Given the description of an element on the screen output the (x, y) to click on. 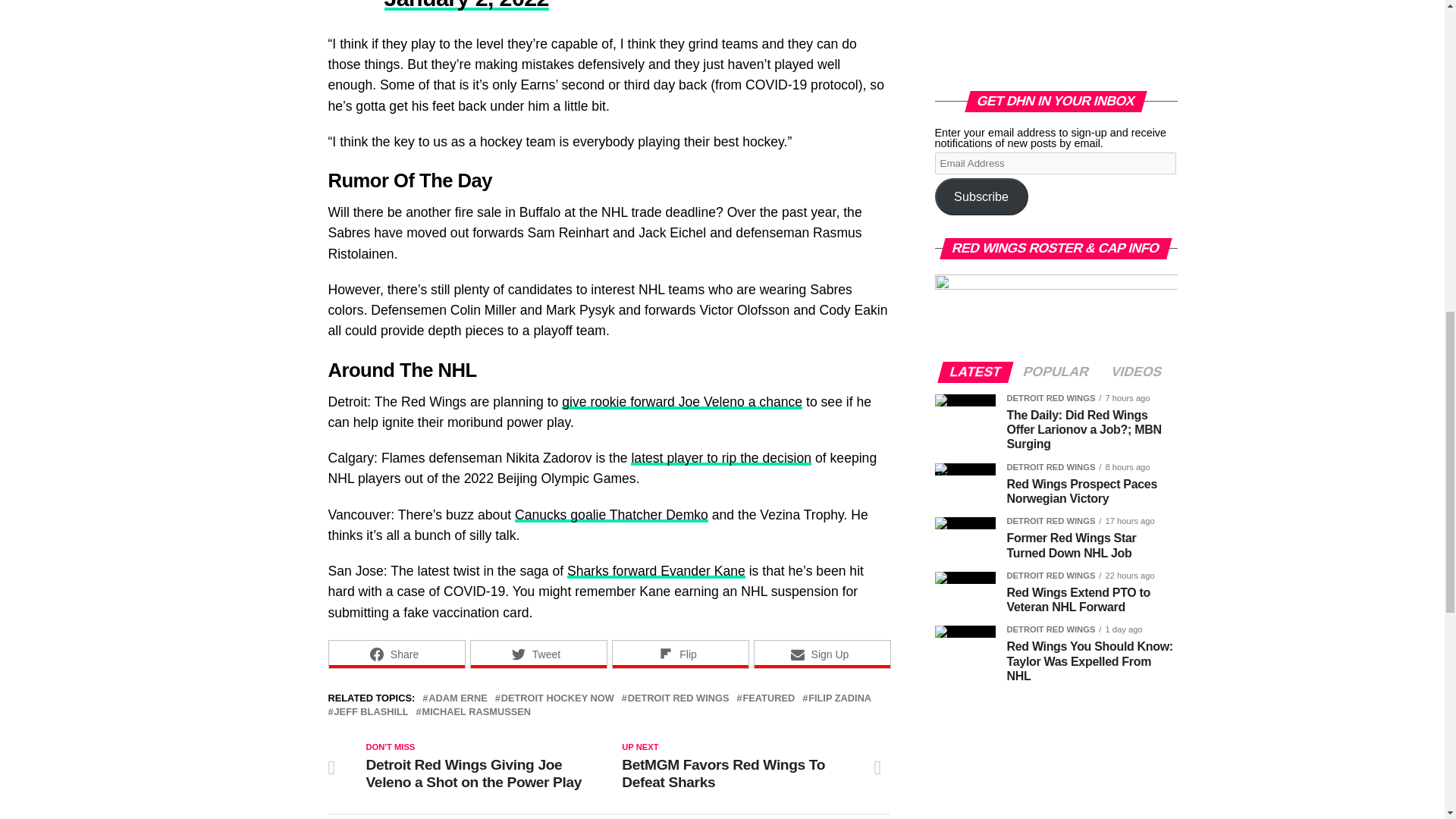
Share on Tweet (538, 654)
Share on Flip (679, 654)
Share on Sign Up (822, 654)
Share on Share (395, 654)
